Given the description of an element on the screen output the (x, y) to click on. 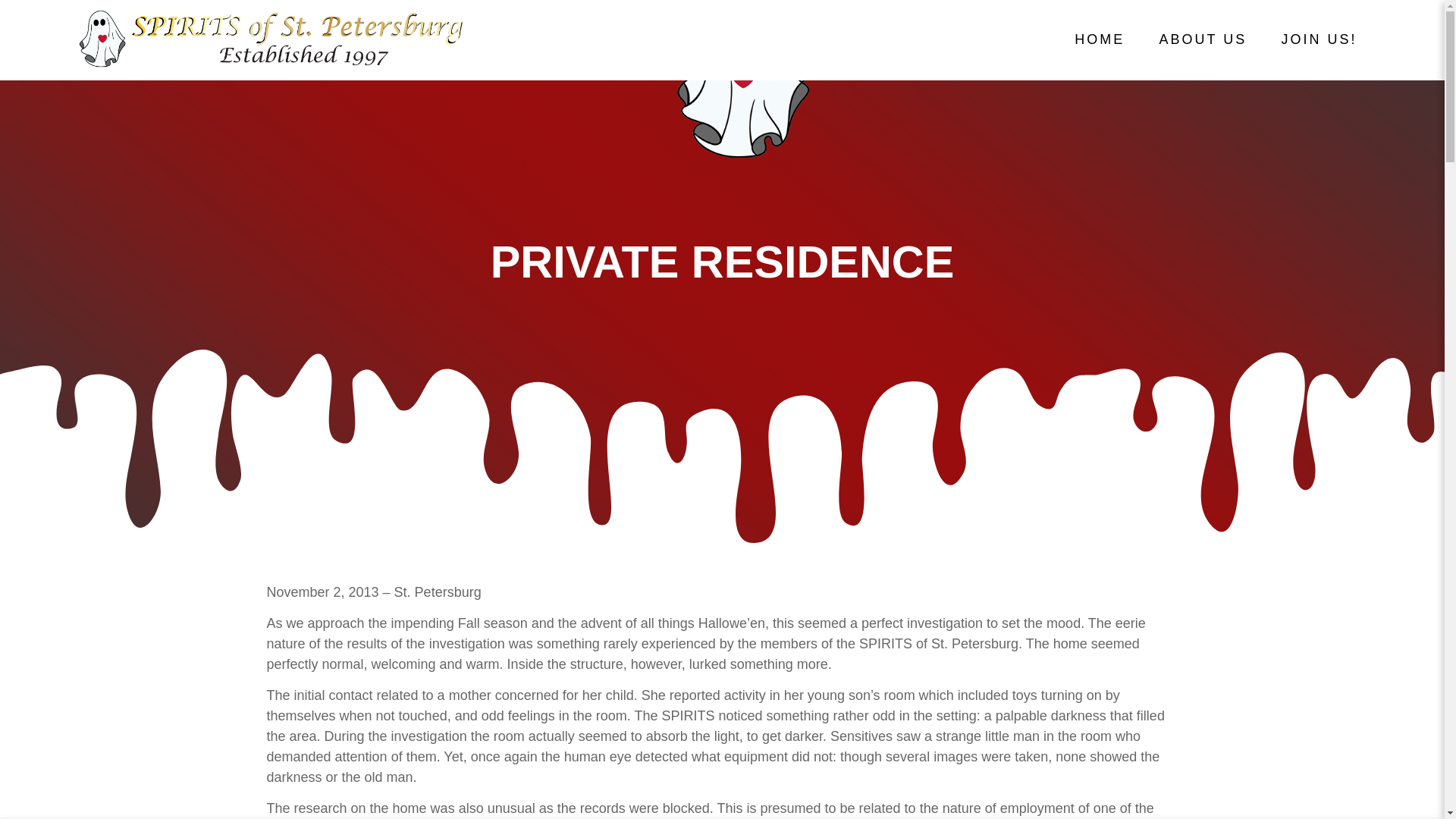
ABOUT US (1202, 40)
JOIN US! (1318, 40)
